Given the description of an element on the screen output the (x, y) to click on. 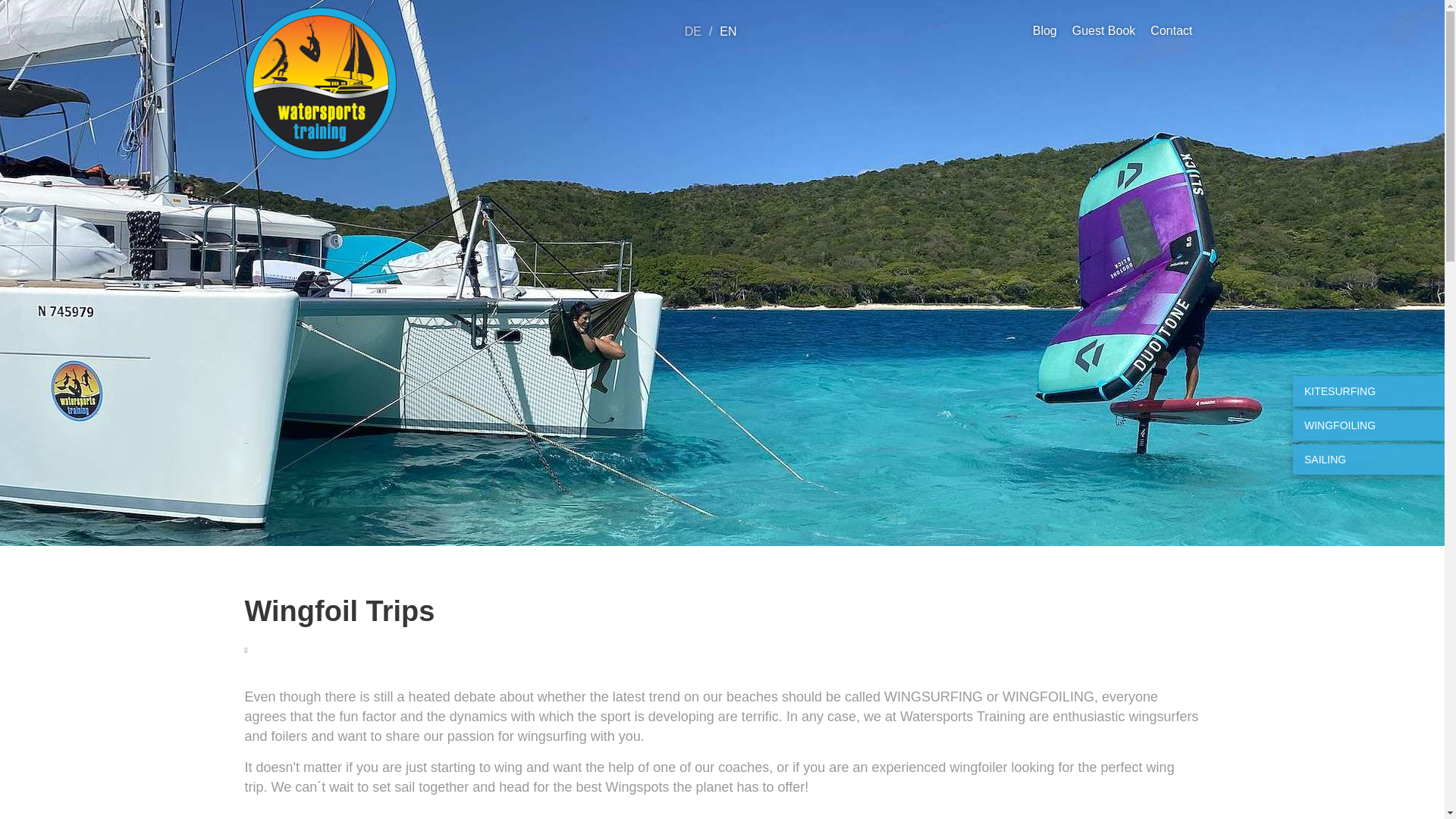
Blog (1044, 30)
WINGFOILING (1368, 425)
Guest Book (1103, 30)
KITESURFING (1368, 390)
SAILING (1368, 459)
Contact (1170, 30)
